Given the description of an element on the screen output the (x, y) to click on. 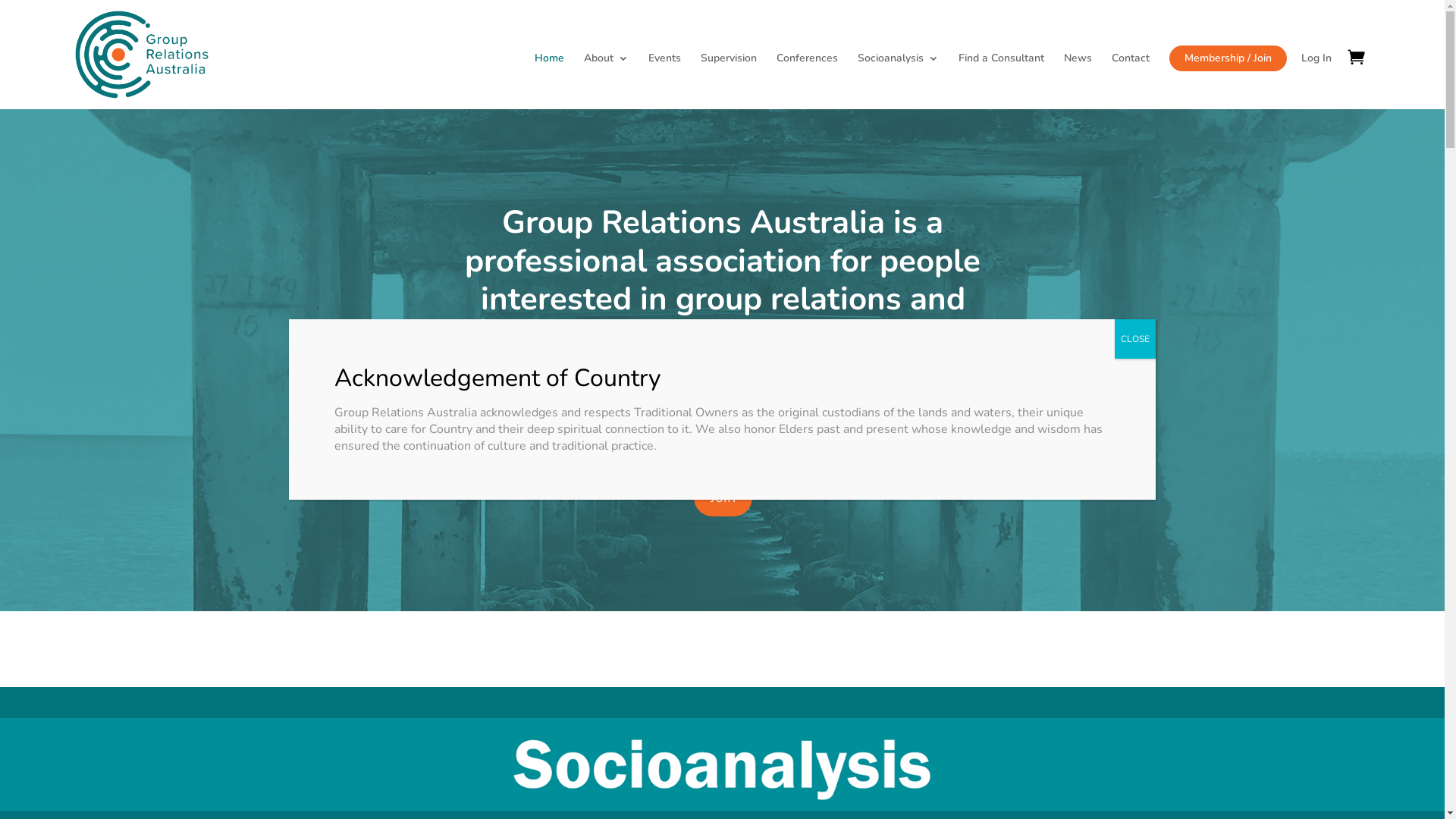
Find a Consultant Element type: text (1001, 81)
Conferences Element type: text (806, 81)
Events Element type: text (664, 81)
Supervision Element type: text (728, 81)
Socioanalysis Element type: text (897, 81)
Contact Element type: text (1130, 81)
Home Element type: text (549, 81)
Membership / Join Element type: text (1227, 58)
About Element type: text (605, 81)
CLOSE Element type: text (1134, 338)
Join Element type: text (722, 497)
News Element type: text (1077, 81)
Log In Element type: text (1316, 81)
